Given the description of an element on the screen output the (x, y) to click on. 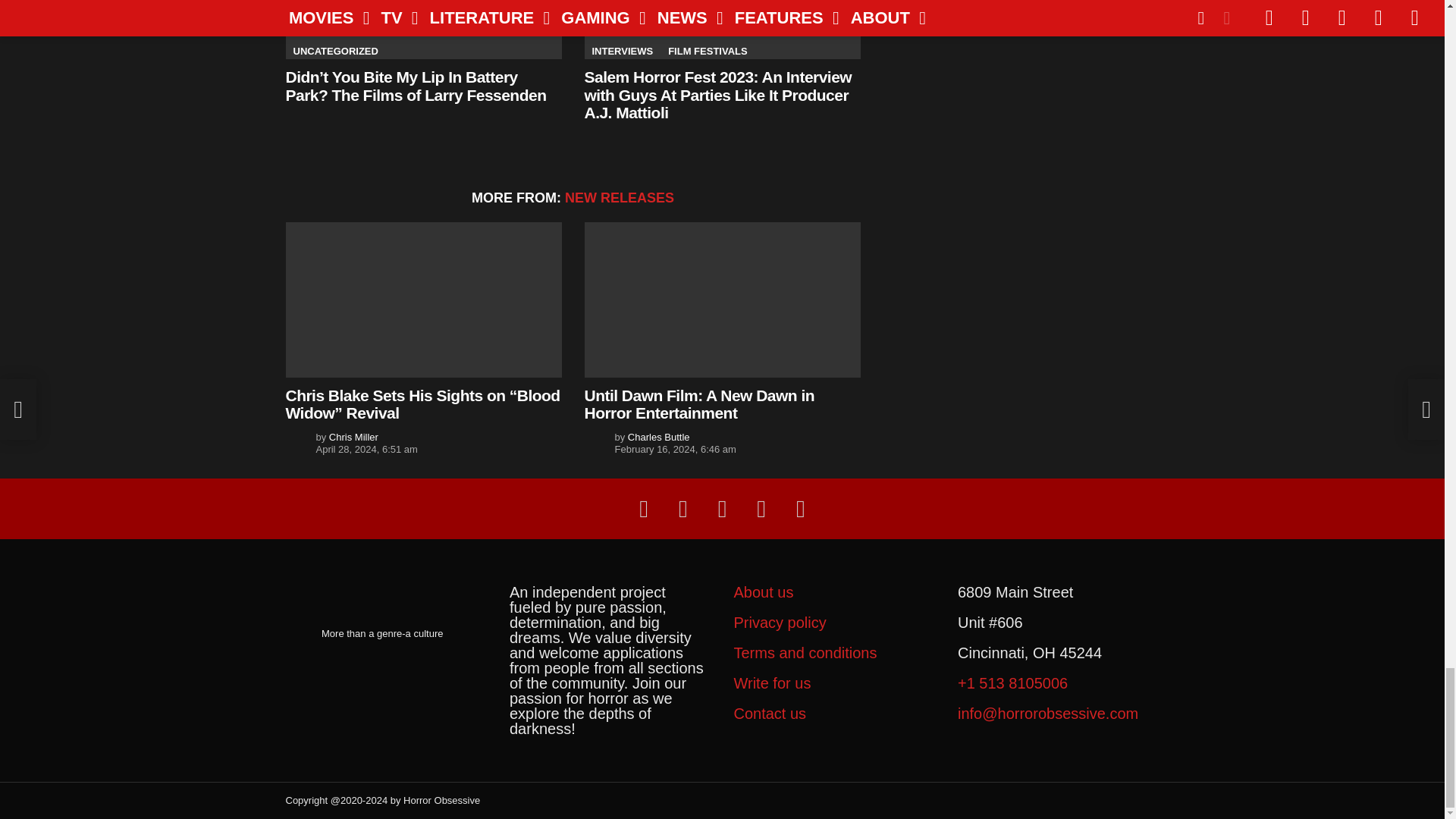
Posts by Chris Miller (353, 437)
Until Dawn Film: A New Dawn in Horror Entertainment (721, 299)
Posts by Charles Buttle (658, 437)
